Given the description of an element on the screen output the (x, y) to click on. 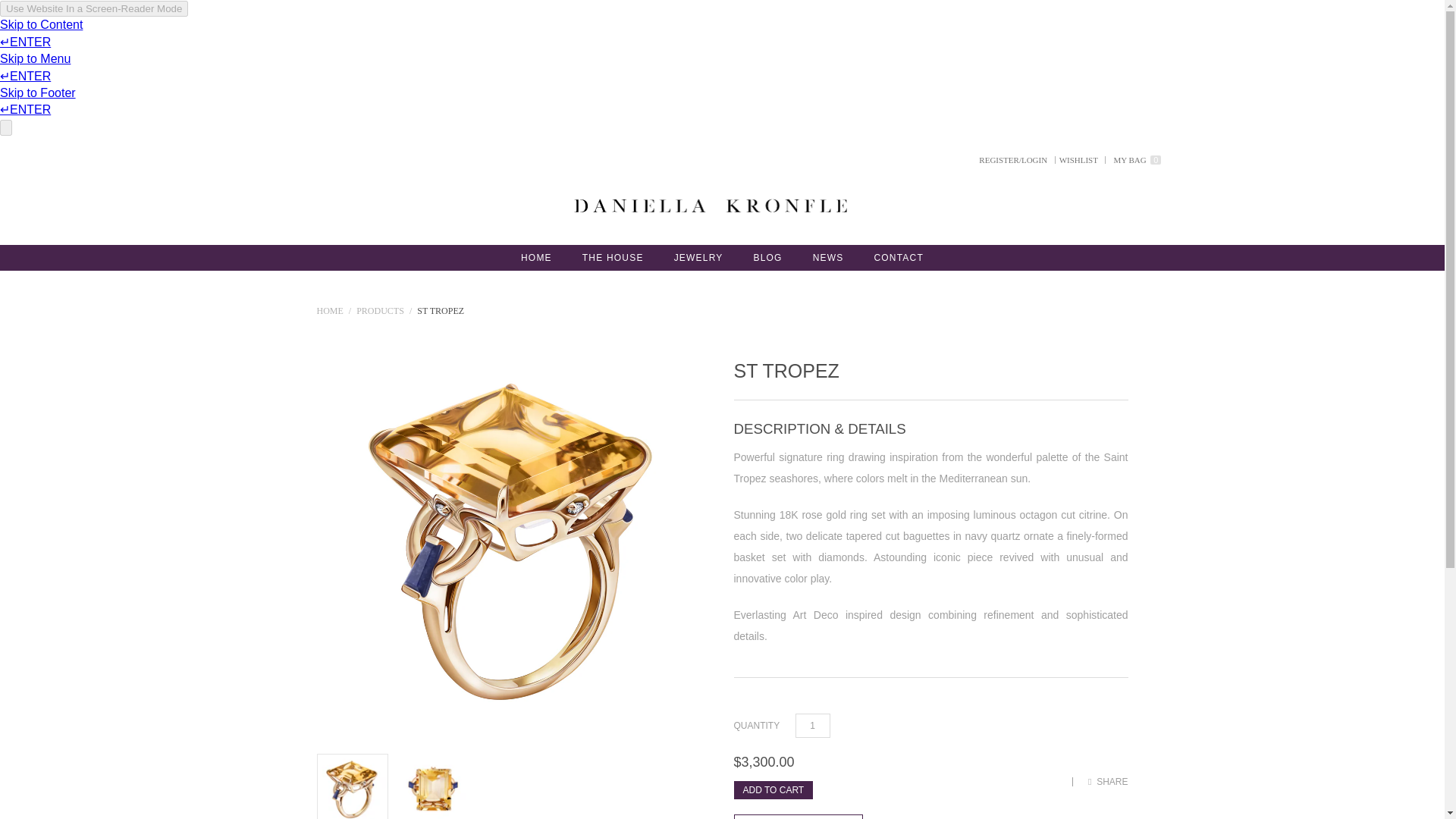
HOME (536, 258)
Add to cart (773, 790)
MY BAG  0 (1136, 159)
JEWELRY (698, 258)
BLOG (767, 258)
1 (811, 725)
NEWS (828, 258)
WISHLIST (1078, 159)
THE HOUSE (613, 258)
CONTACT (899, 258)
